Given the description of an element on the screen output the (x, y) to click on. 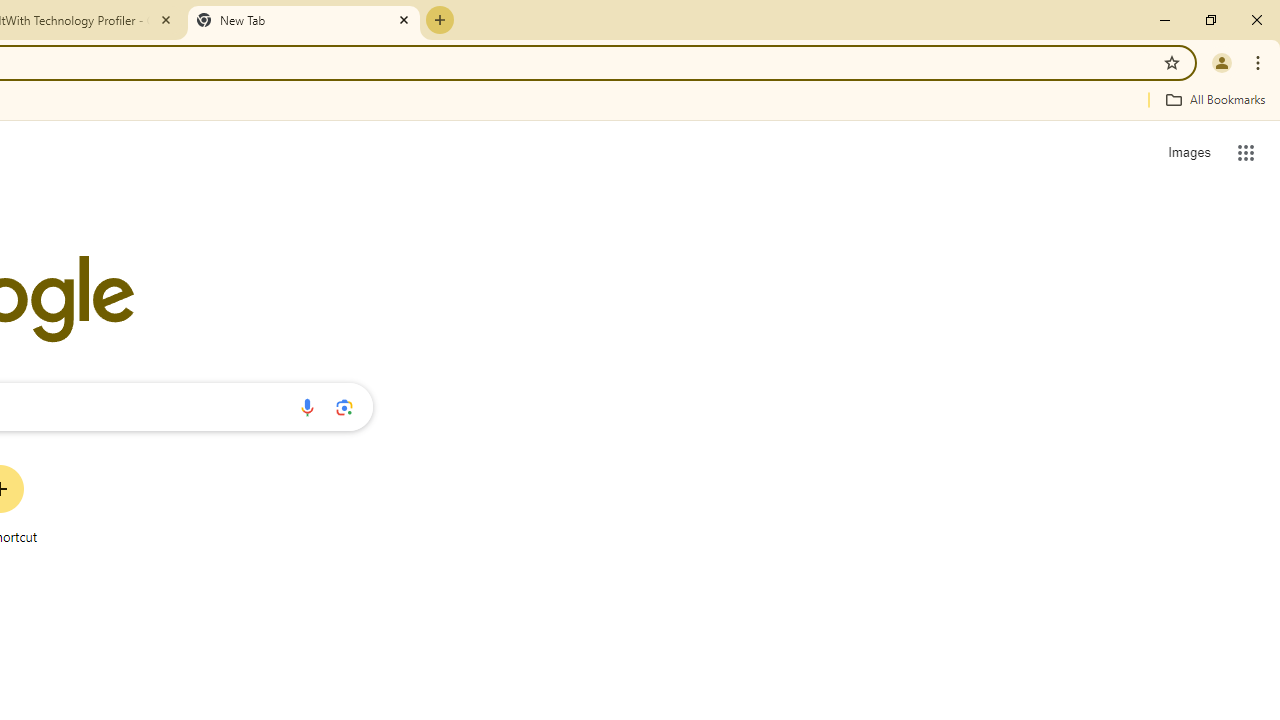
New Tab (304, 20)
